Given the description of an element on the screen output the (x, y) to click on. 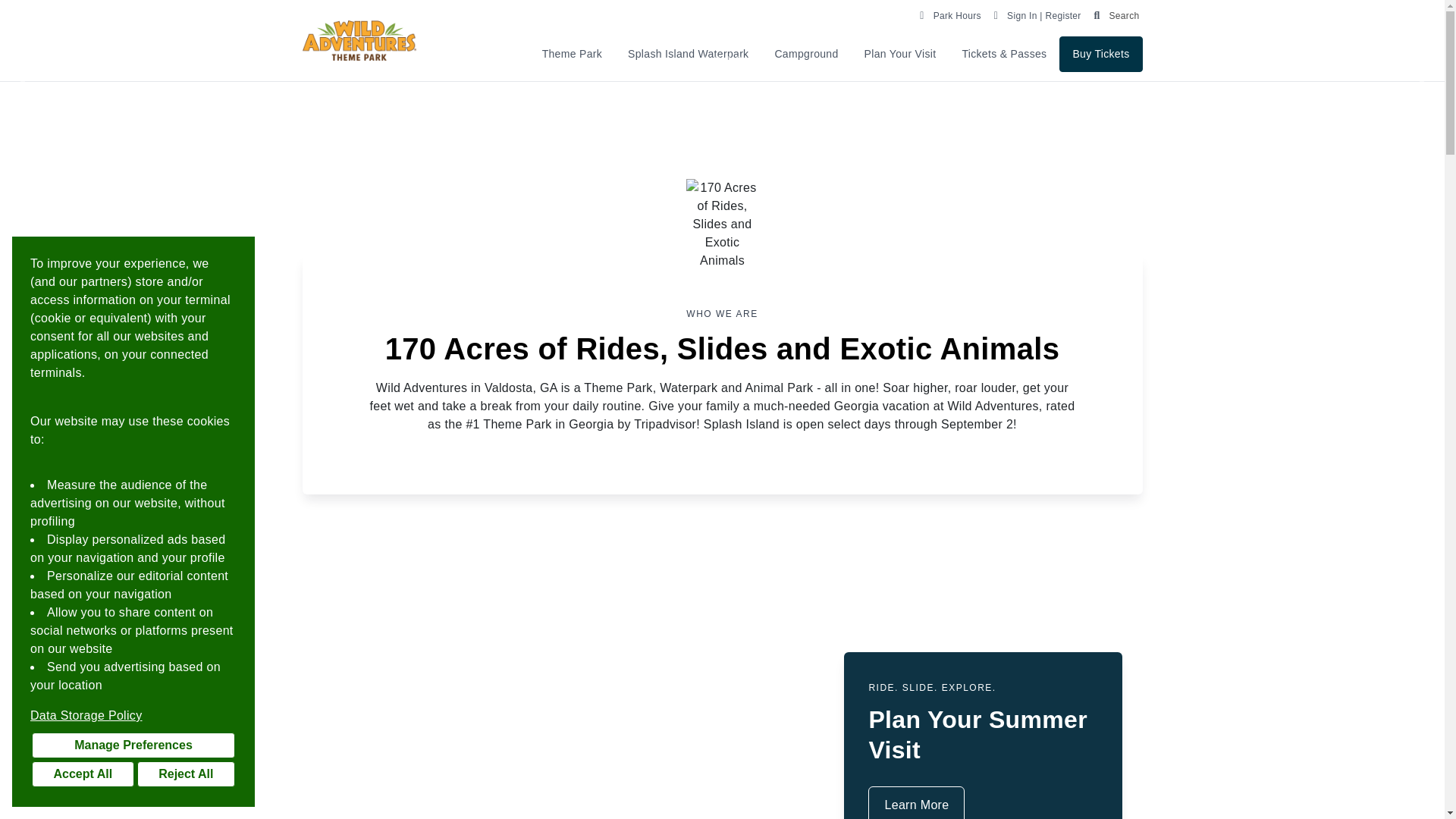
Manage Preferences (133, 745)
Reject All (185, 774)
Data Storage Policy (132, 715)
Accept All (82, 774)
Search (1112, 14)
Theme Park (571, 54)
Splash Island Waterpark (687, 54)
Park Hours (949, 14)
Campground (805, 54)
